Given the description of an element on the screen output the (x, y) to click on. 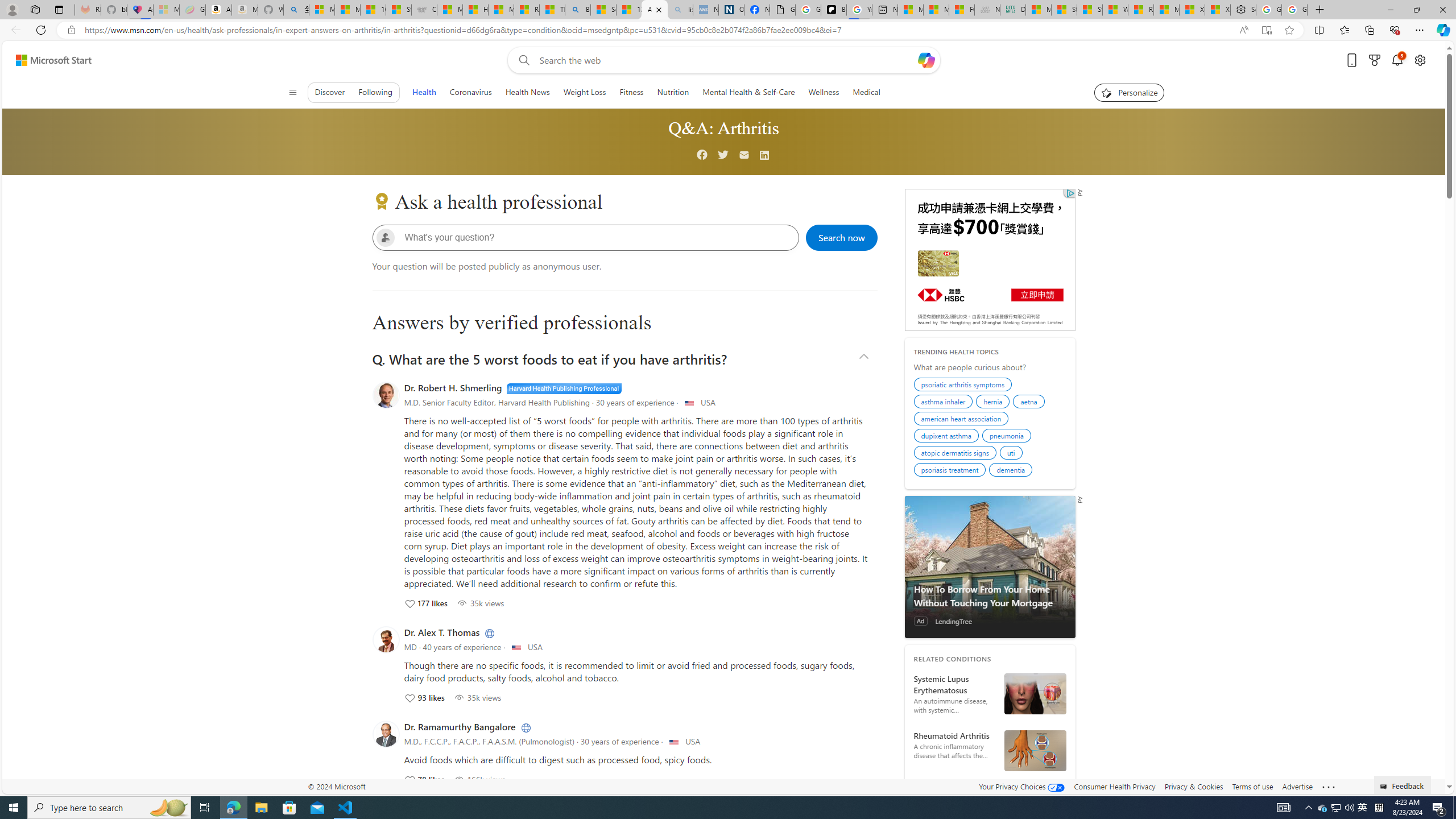
12 Popular Science Lies that Must be Corrected (628, 9)
american heart association (961, 420)
Flag image of USA (674, 741)
177 Like; Click to Like (425, 603)
Terms of use (1252, 785)
Medical (865, 92)
